Given the description of an element on the screen output the (x, y) to click on. 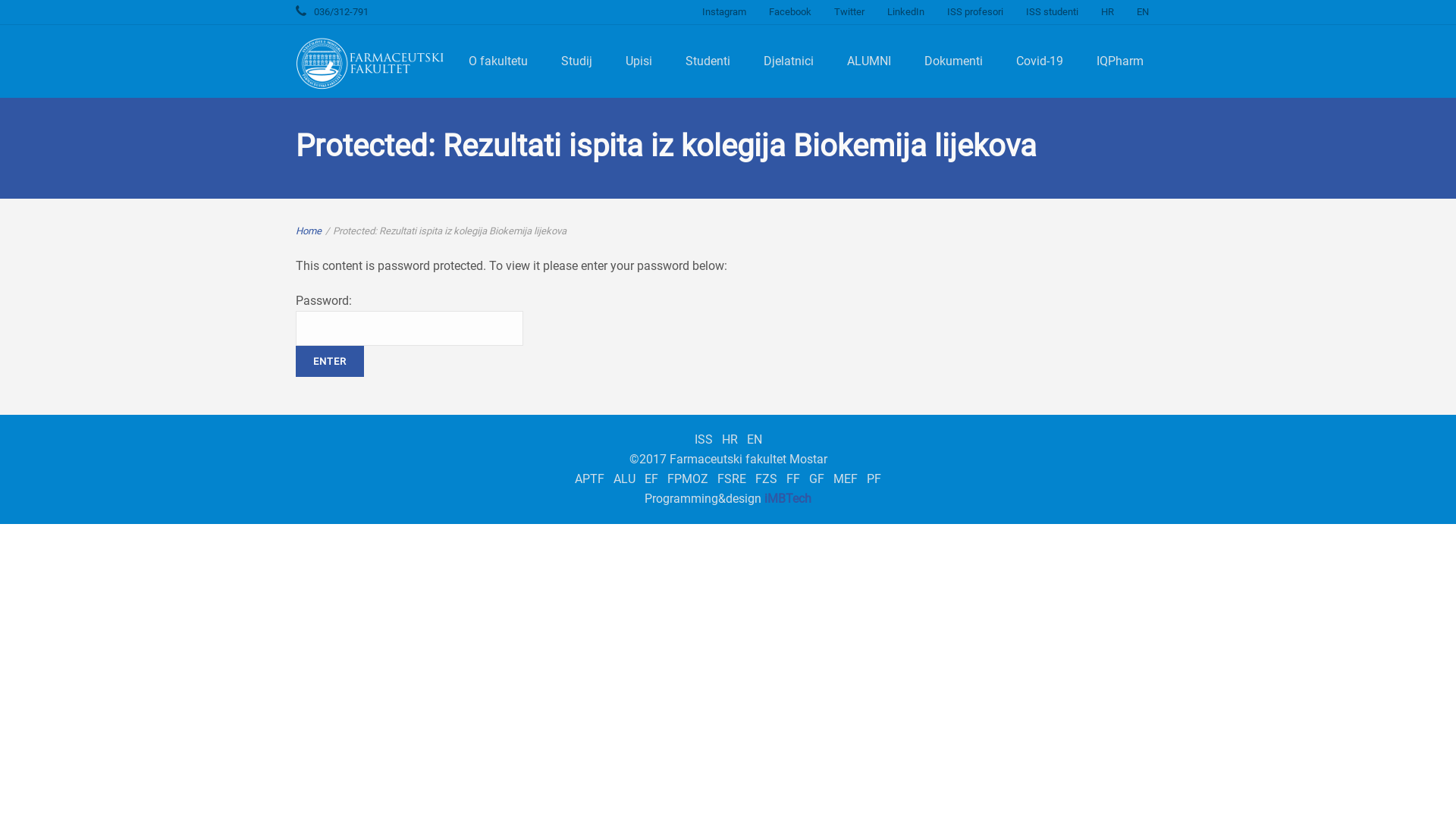
Home Element type: text (308, 230)
FPMOZ Element type: text (687, 478)
FSRE Element type: text (731, 478)
Farmaceutski fakultet Element type: hover (371, 63)
HR Element type: text (1107, 12)
HR Element type: text (729, 439)
Facebook Element type: text (789, 12)
Djelatnici Element type: text (788, 61)
PF Element type: text (873, 478)
FF Element type: text (793, 478)
FZS Element type: text (766, 478)
Covid-19 Element type: text (1039, 61)
Instagram Element type: text (723, 12)
EN Element type: text (1142, 12)
Twitter Element type: text (848, 12)
LinkedIn Element type: text (905, 12)
ISS studenti Element type: text (1051, 12)
ALUMNI Element type: text (868, 61)
ISS profesori Element type: text (974, 12)
GF Element type: text (816, 478)
O fakultetu Element type: text (497, 61)
Studenti Element type: text (707, 61)
Studij Element type: text (576, 61)
MEF Element type: text (845, 478)
APTF Element type: text (589, 478)
Enter Element type: text (329, 360)
Upisi Element type: text (638, 61)
ALU Element type: text (624, 478)
EF Element type: text (651, 478)
Dokumenti Element type: text (953, 61)
IQPharm Element type: text (1119, 61)
iMBTech Element type: text (787, 498)
EN Element type: text (753, 439)
ISS Element type: text (703, 439)
